Given the description of an element on the screen output the (x, y) to click on. 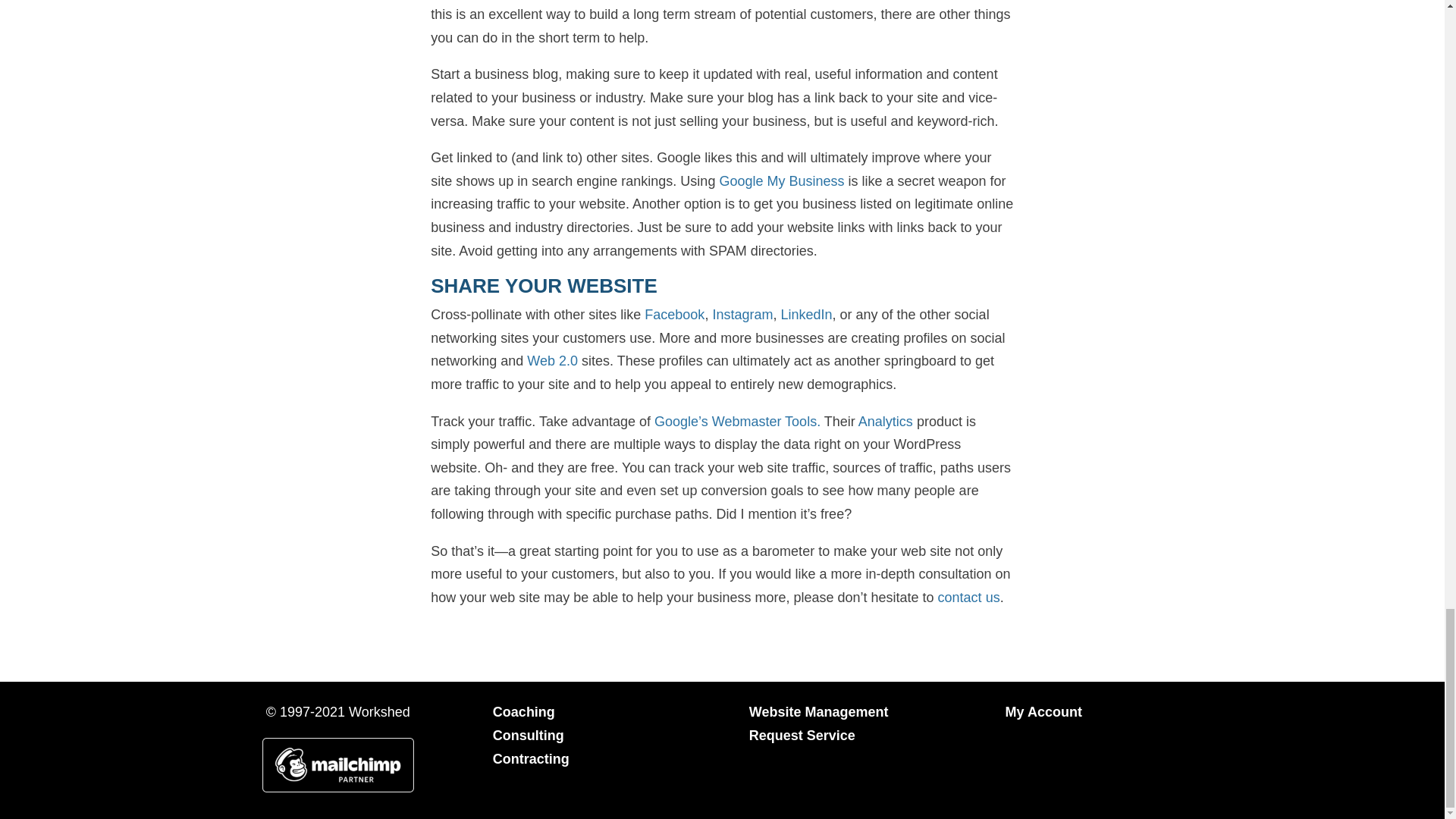
Request Service (802, 735)
Consulting (528, 735)
contact (959, 597)
Web 2.0 (552, 360)
Analytics (885, 421)
Coaching (523, 711)
Google My Business (781, 181)
Instagram (742, 314)
Contracting (531, 758)
us (990, 597)
